Given the description of an element on the screen output the (x, y) to click on. 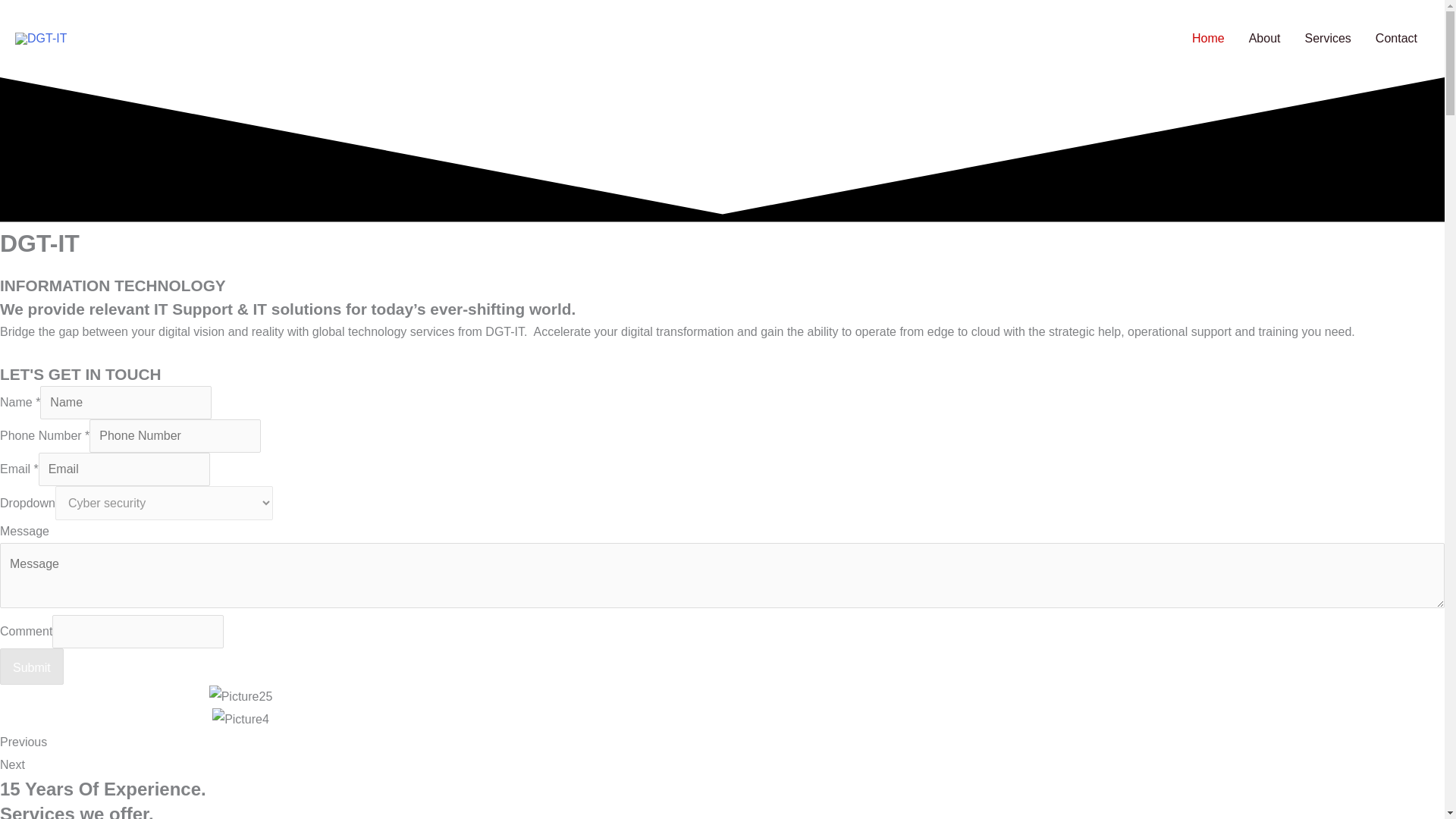
Home (1207, 38)
About (1264, 38)
Submit (32, 666)
Services (1327, 38)
Contact (1395, 38)
